Given the description of an element on the screen output the (x, y) to click on. 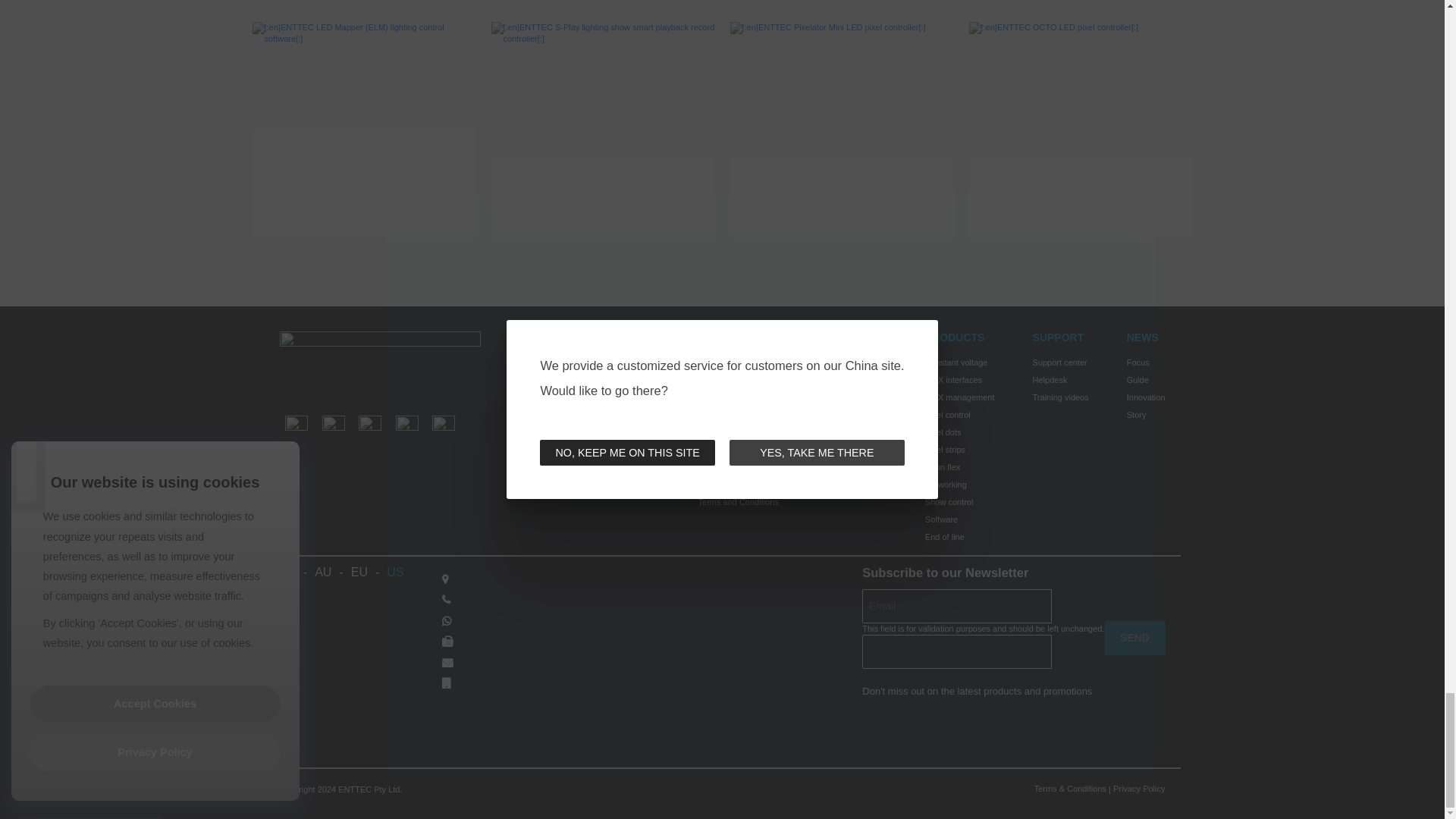
Send (1133, 637)
